Given the description of an element on the screen output the (x, y) to click on. 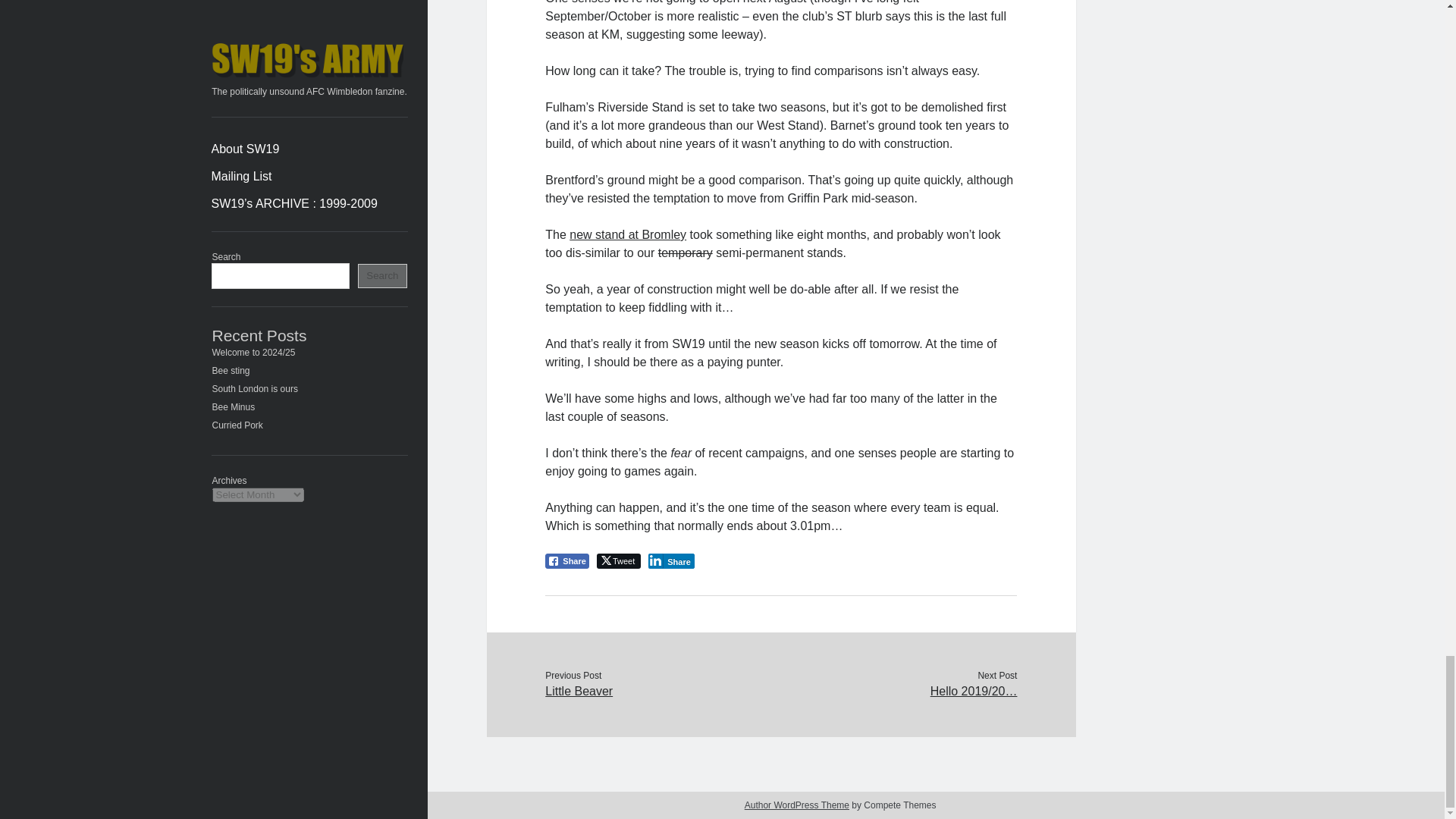
Tweet (618, 560)
Author WordPress Theme (796, 805)
new stand at Bromley (627, 234)
Share (566, 560)
Little Beaver (662, 691)
Share (670, 560)
